Given the description of an element on the screen output the (x, y) to click on. 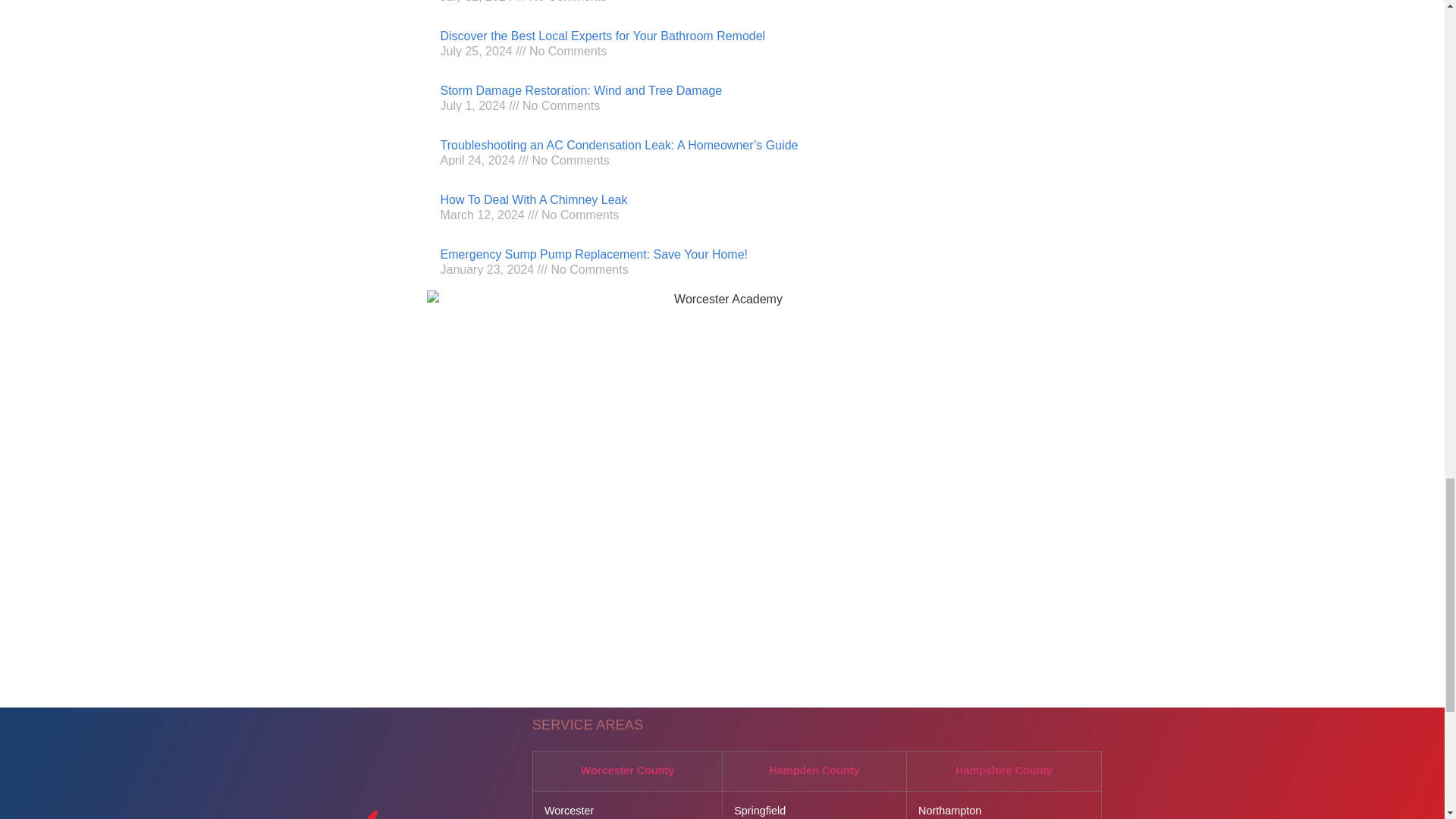
Hampden County (813, 770)
Discover the Best Local Experts for Your Bathroom Remodel (602, 35)
Springfield (759, 810)
Northampton (949, 810)
Worcester County (627, 770)
Storm Damage Restoration: Wind and Tree Damage (580, 90)
Emergency Sump Pump Replacement: Save Your Home! (593, 254)
Worcester (569, 810)
Hampshire County (1003, 770)
How To Deal With A Chimney Leak (533, 199)
